Given the description of an element on the screen output the (x, y) to click on. 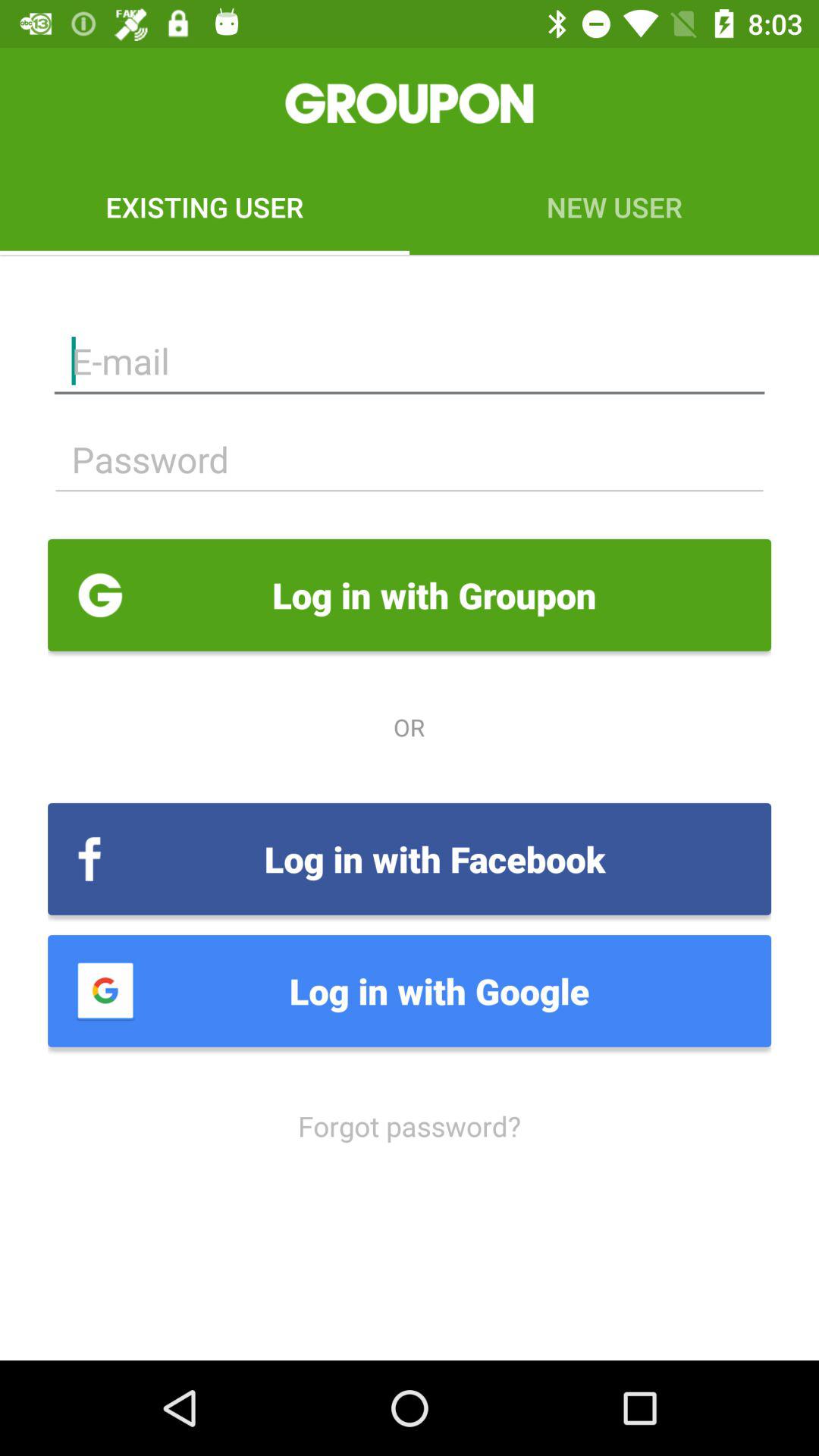
launch item below log in with item (409, 1126)
